Given the description of an element on the screen output the (x, y) to click on. 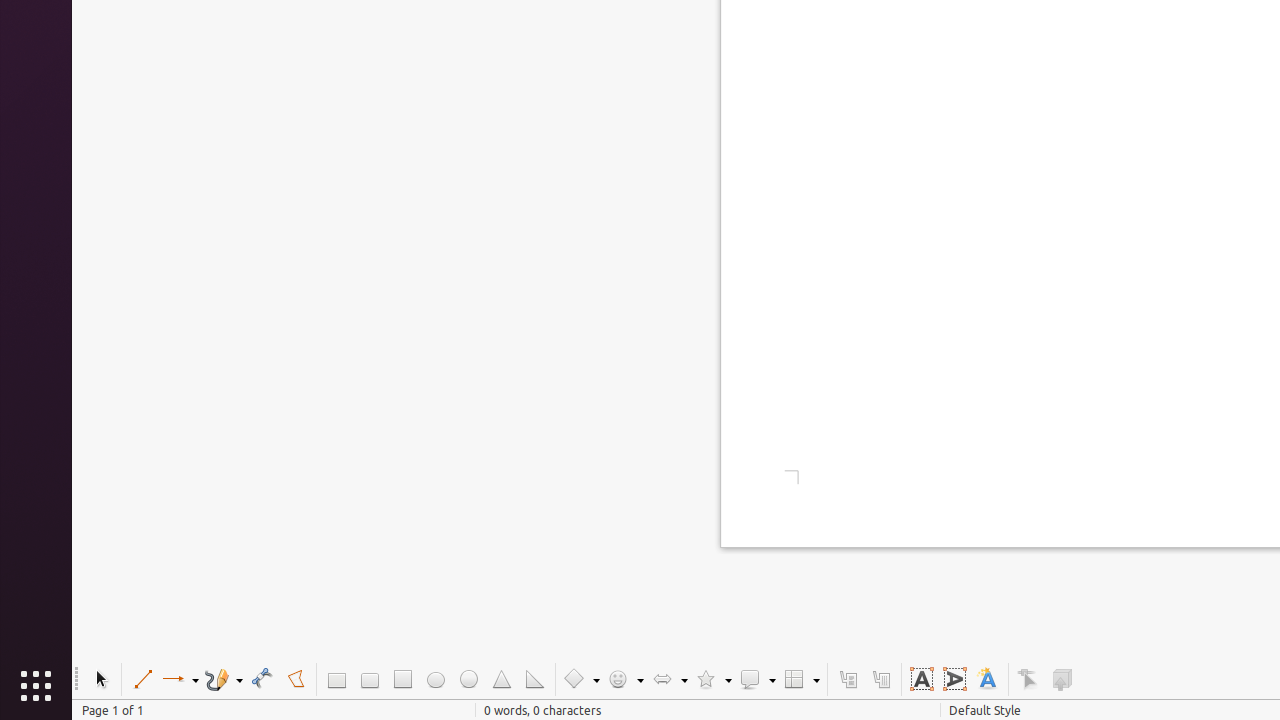
Callouts Element type: push-button (847, 679)
Curves and Polygons Element type: push-button (224, 679)
